Given the description of an element on the screen output the (x, y) to click on. 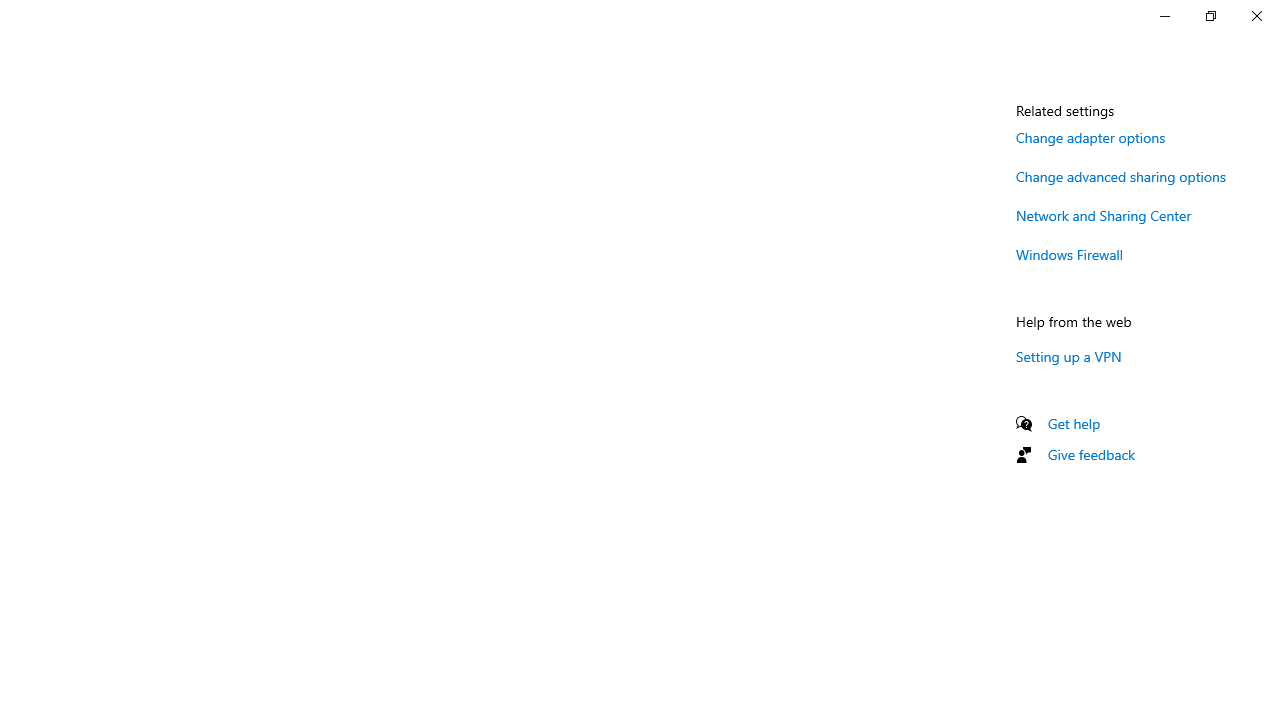
Network and Sharing Center (1103, 214)
Windows Firewall (1069, 254)
Change adapter options (1091, 137)
Setting up a VPN (1069, 356)
Get help (1074, 422)
Give feedback (1091, 453)
Change advanced sharing options (1121, 176)
